Given the description of an element on the screen output the (x, y) to click on. 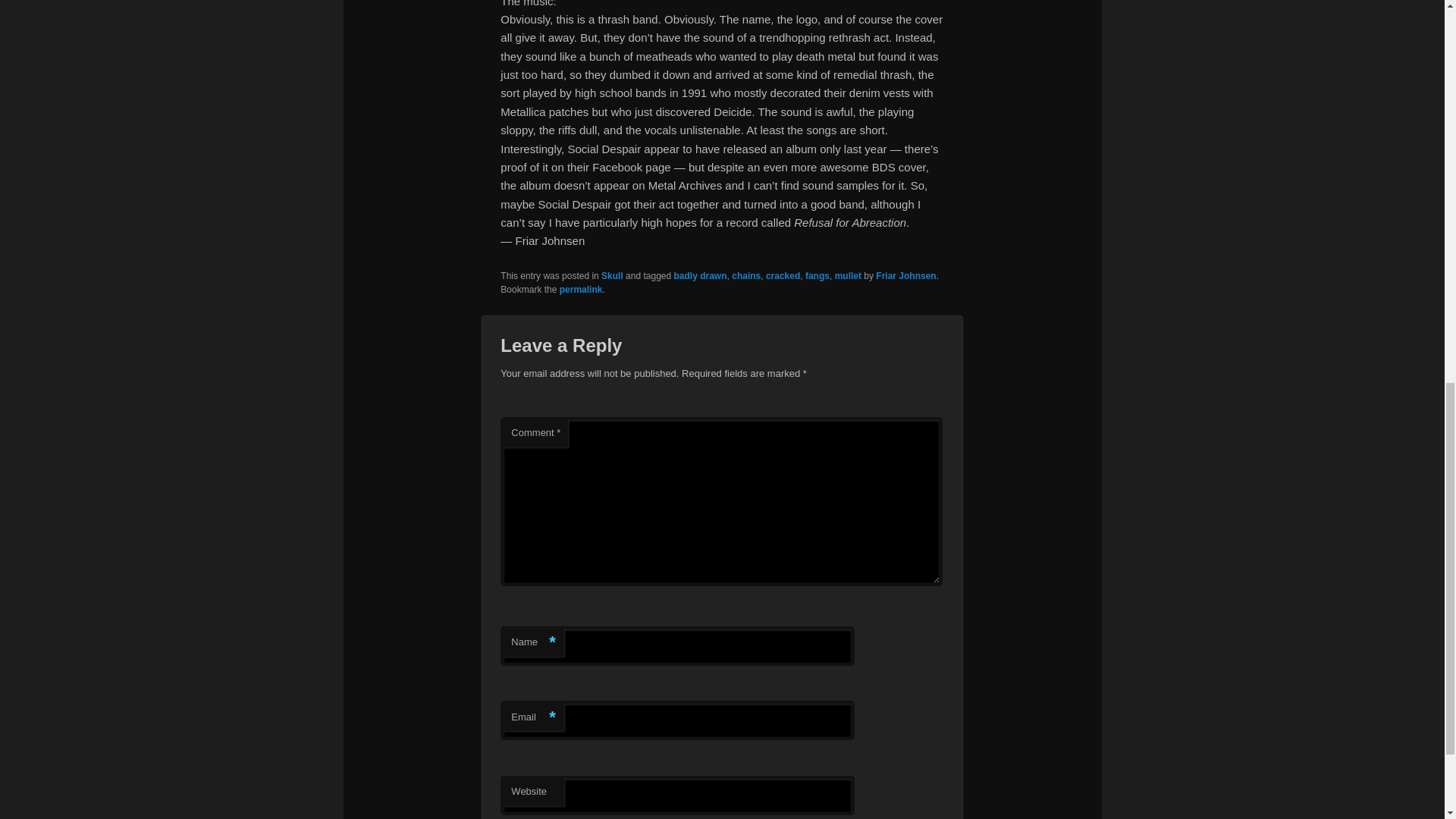
Skull (612, 276)
Friar Johnsen (906, 276)
chains (746, 276)
fangs (817, 276)
cracked (782, 276)
badly drawn (700, 276)
permalink (580, 289)
mullet (847, 276)
Permalink to SKULL607 (580, 289)
